Given the description of an element on the screen output the (x, y) to click on. 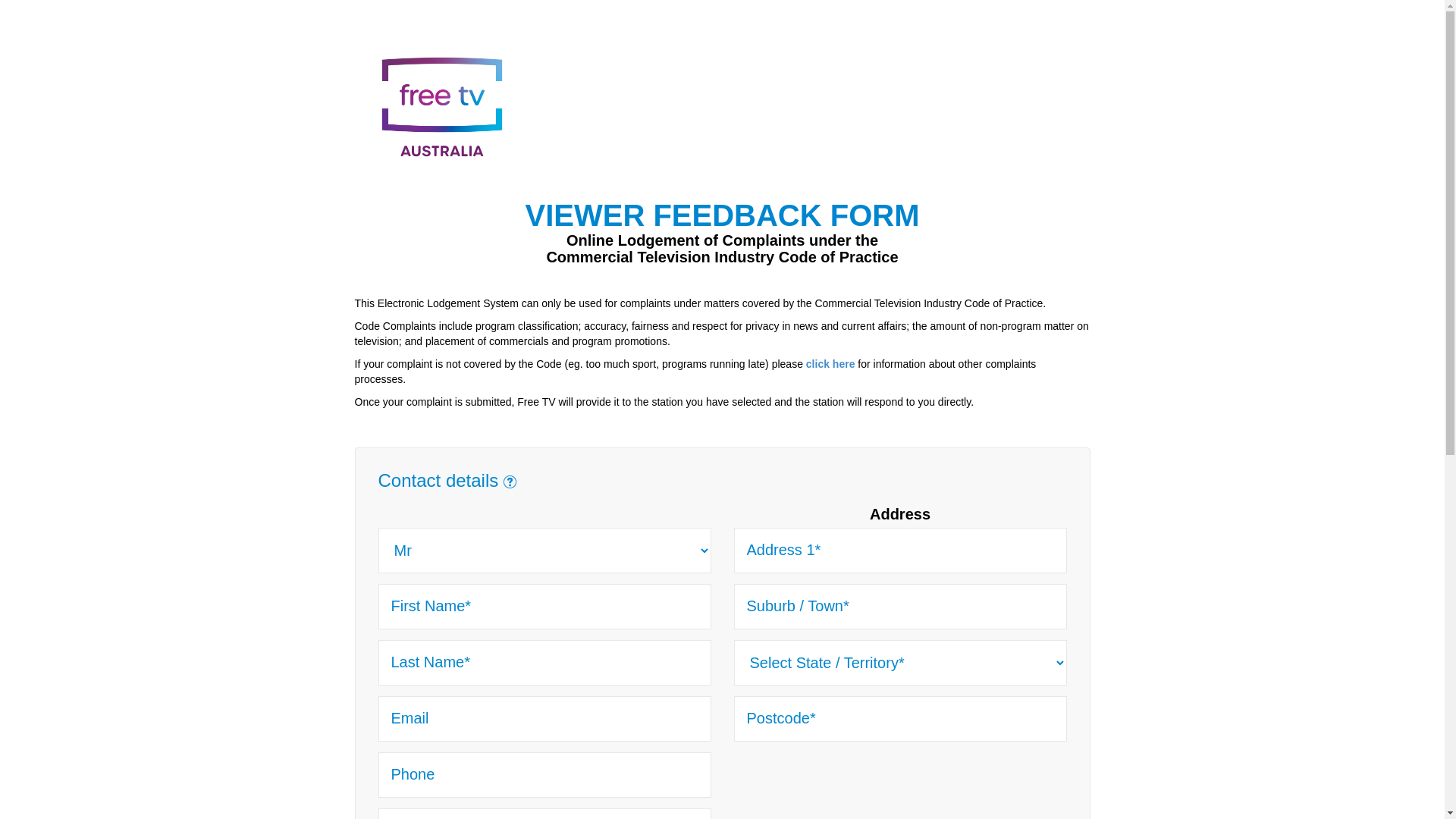
click here Element type: text (830, 363)
